Given the description of an element on the screen output the (x, y) to click on. 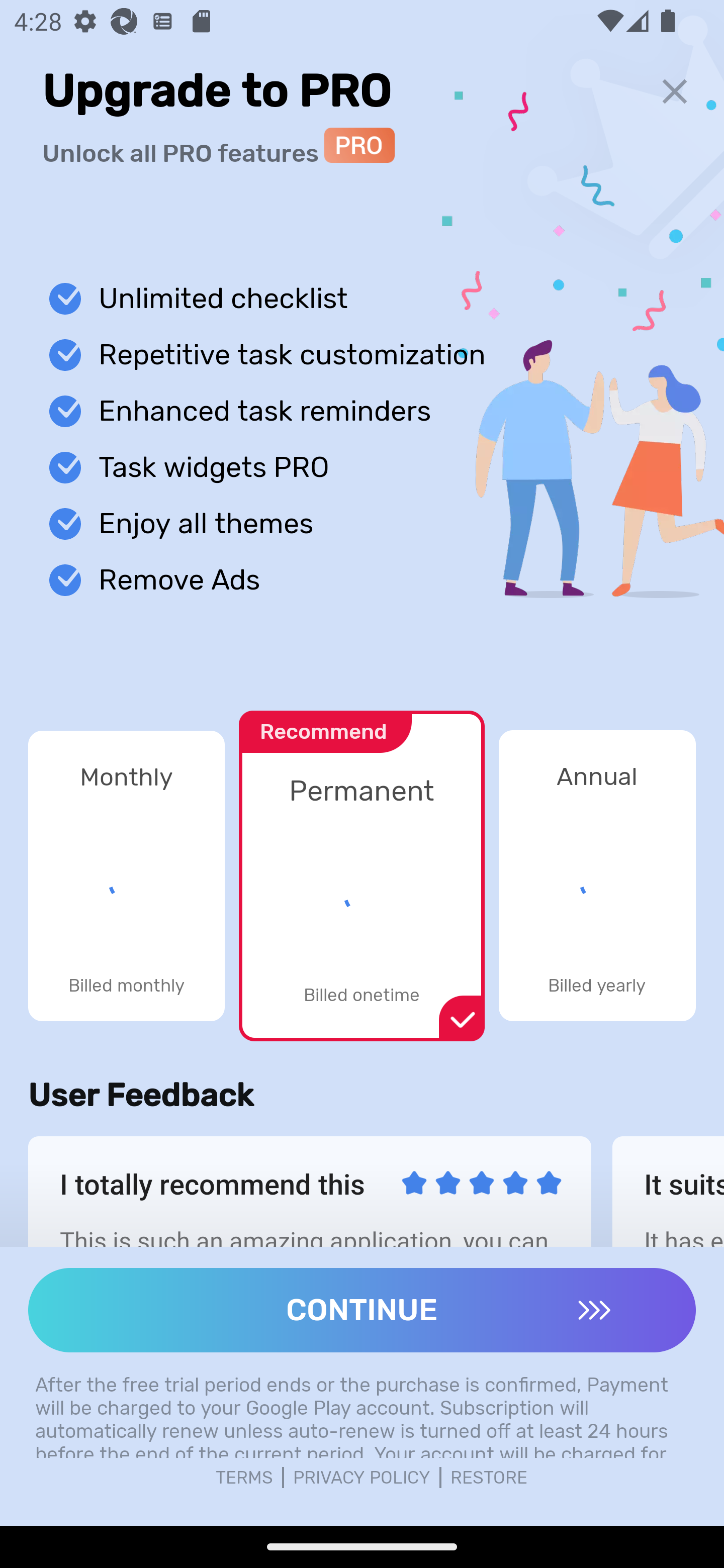
Recommend Permanent Billed onetime (361, 865)
Annual Billed yearly (596, 875)
Monthly Billed monthly (126, 875)
CONTINUE (361, 1309)
RESTORE (489, 1477)
